Given the description of an element on the screen output the (x, y) to click on. 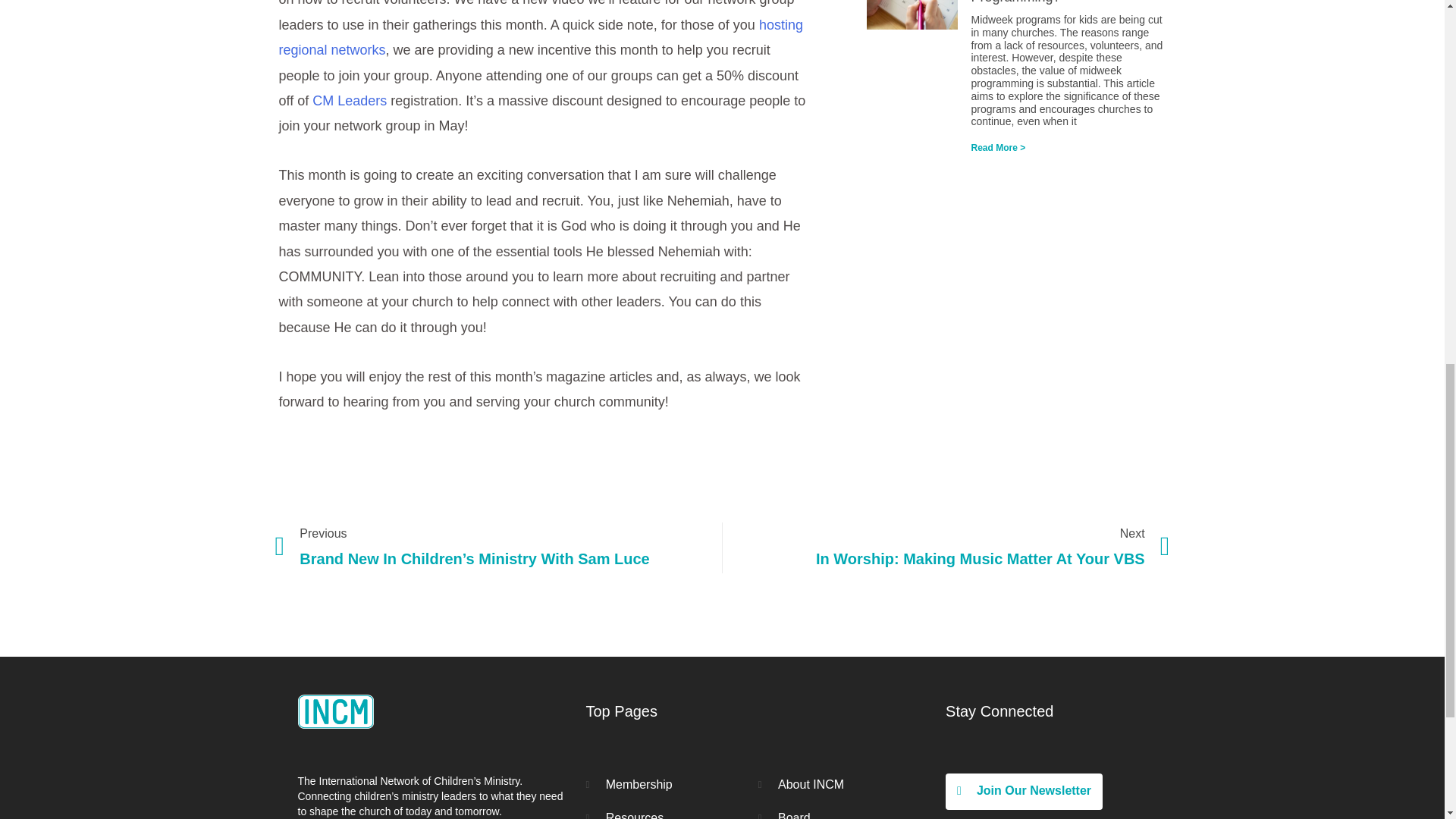
What Is The Value Of Midweek Programming? (1064, 2)
Membership (671, 784)
Resources (671, 812)
hosting regional networks (541, 37)
CM Leaders (946, 547)
